Given the description of an element on the screen output the (x, y) to click on. 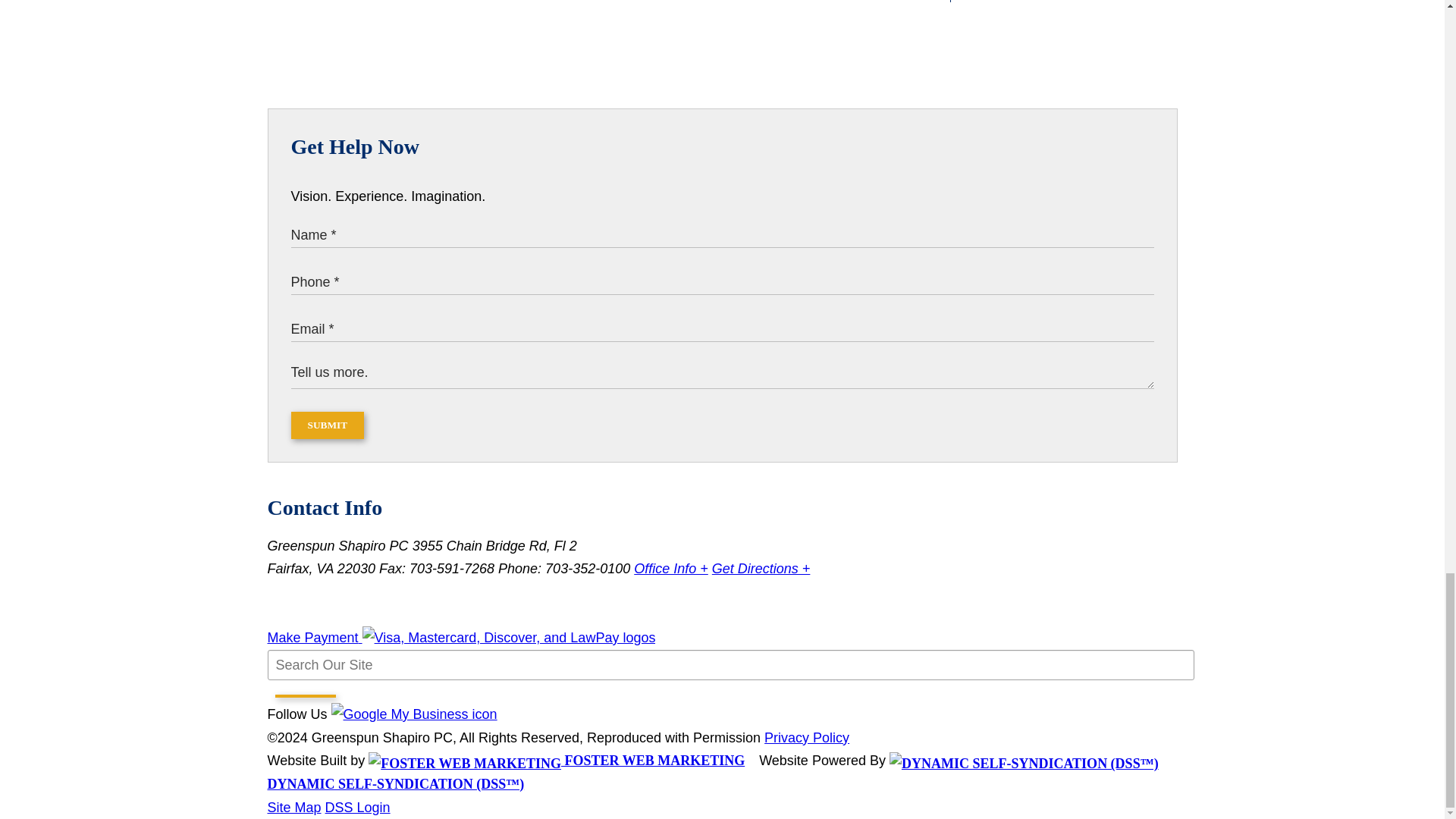
Search (304, 695)
